Given the description of an element on the screen output the (x, y) to click on. 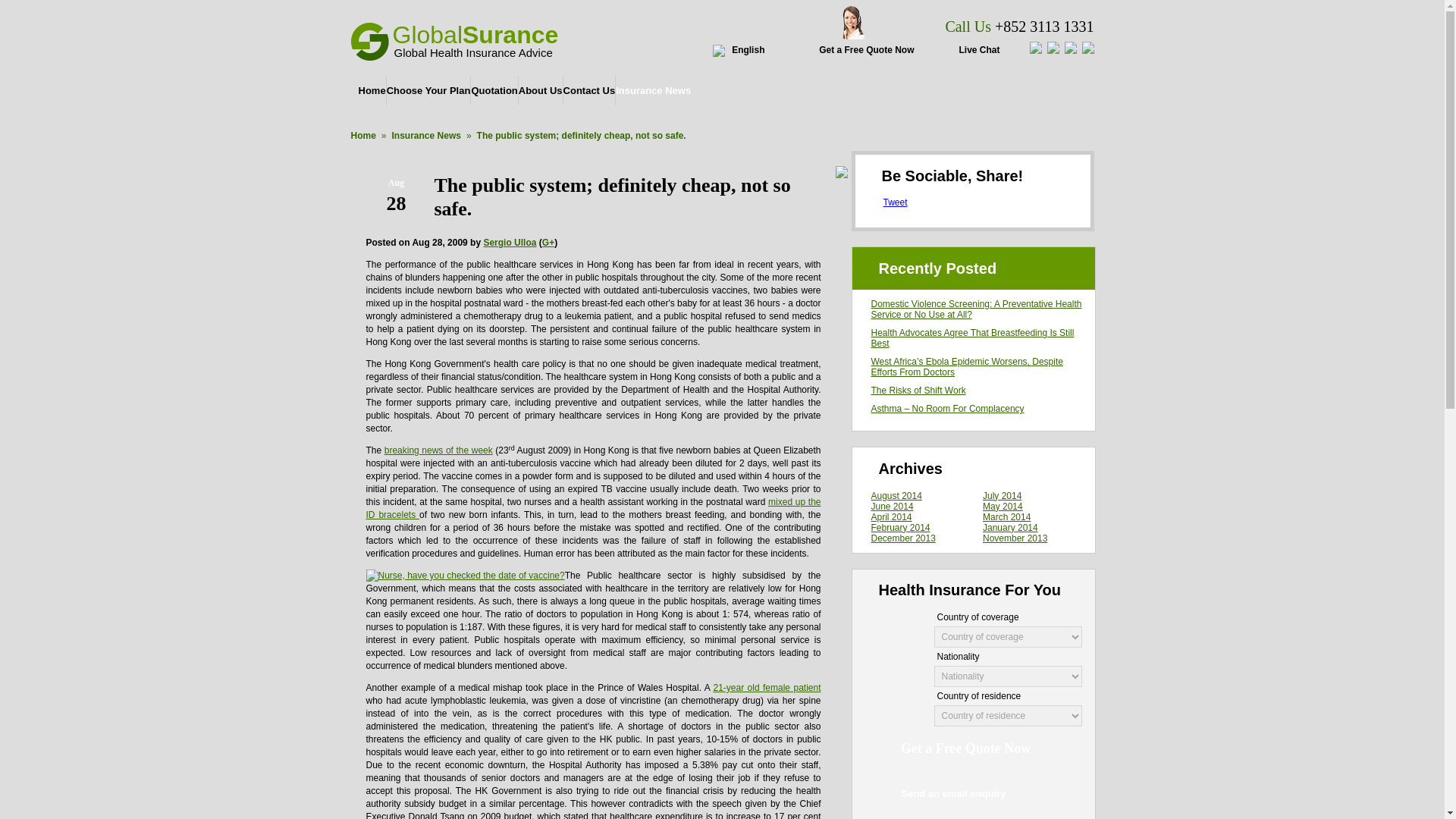
August 2014 (895, 495)
Insurance News (426, 135)
Live Chat (981, 49)
International Insurance News (652, 90)
December 2013 (902, 538)
June 2014 (891, 506)
Global Health Insurance Advice (473, 51)
Choose Your Plan (428, 90)
Insurance News (652, 90)
July 2014 (1002, 495)
January 2014 (1010, 527)
mixed up the ID bracelets (593, 508)
July 2014 (1002, 495)
April 2014 (890, 516)
The public system; definitely cheap, not so safe. (611, 197)
